Given the description of an element on the screen output the (x, y) to click on. 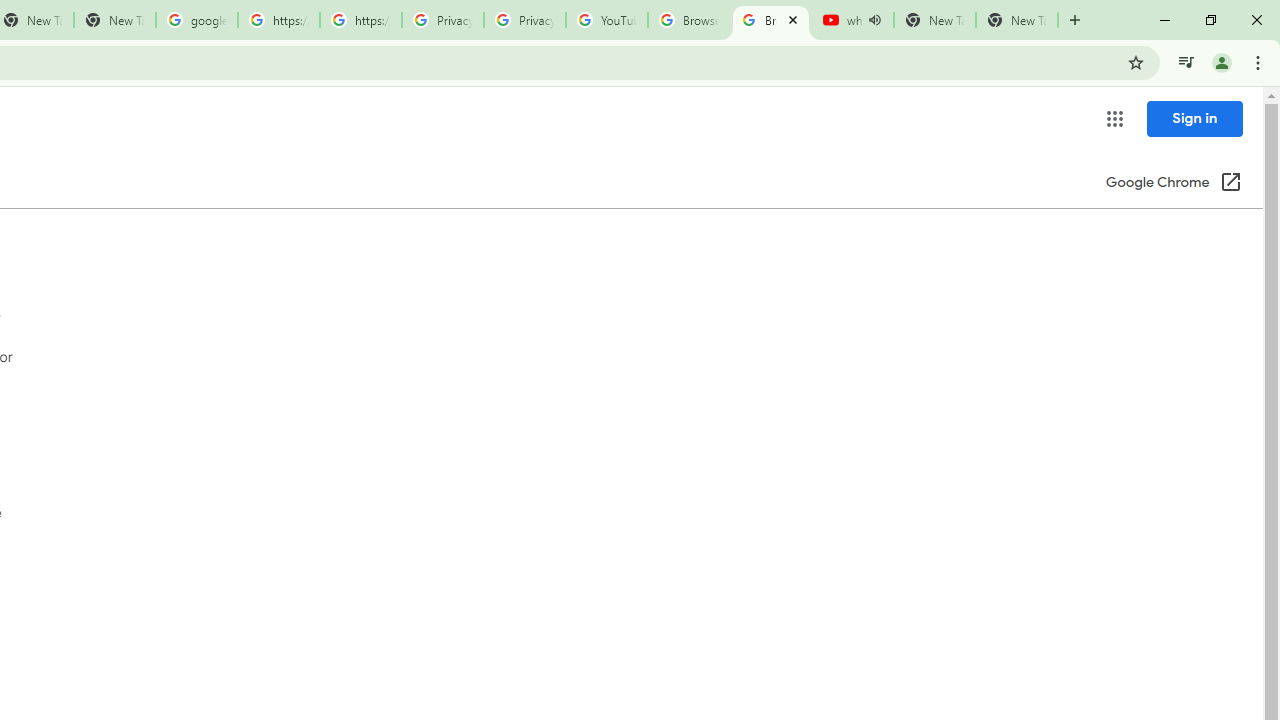
Browse Chrome as a guest - Computer - Google Chrome Help (770, 20)
https://scholar.google.com/ (278, 20)
https://scholar.google.com/ (360, 20)
Browse Chrome as a guest - Computer - Google Chrome Help (688, 20)
YouTube (606, 20)
